Given the description of an element on the screen output the (x, y) to click on. 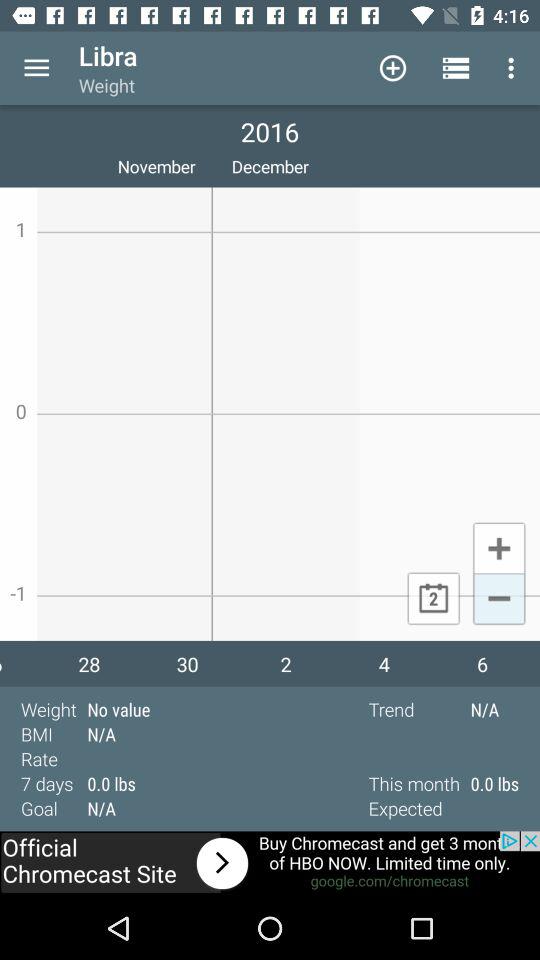
go to chromecast advertisement (270, 864)
